Given the description of an element on the screen output the (x, y) to click on. 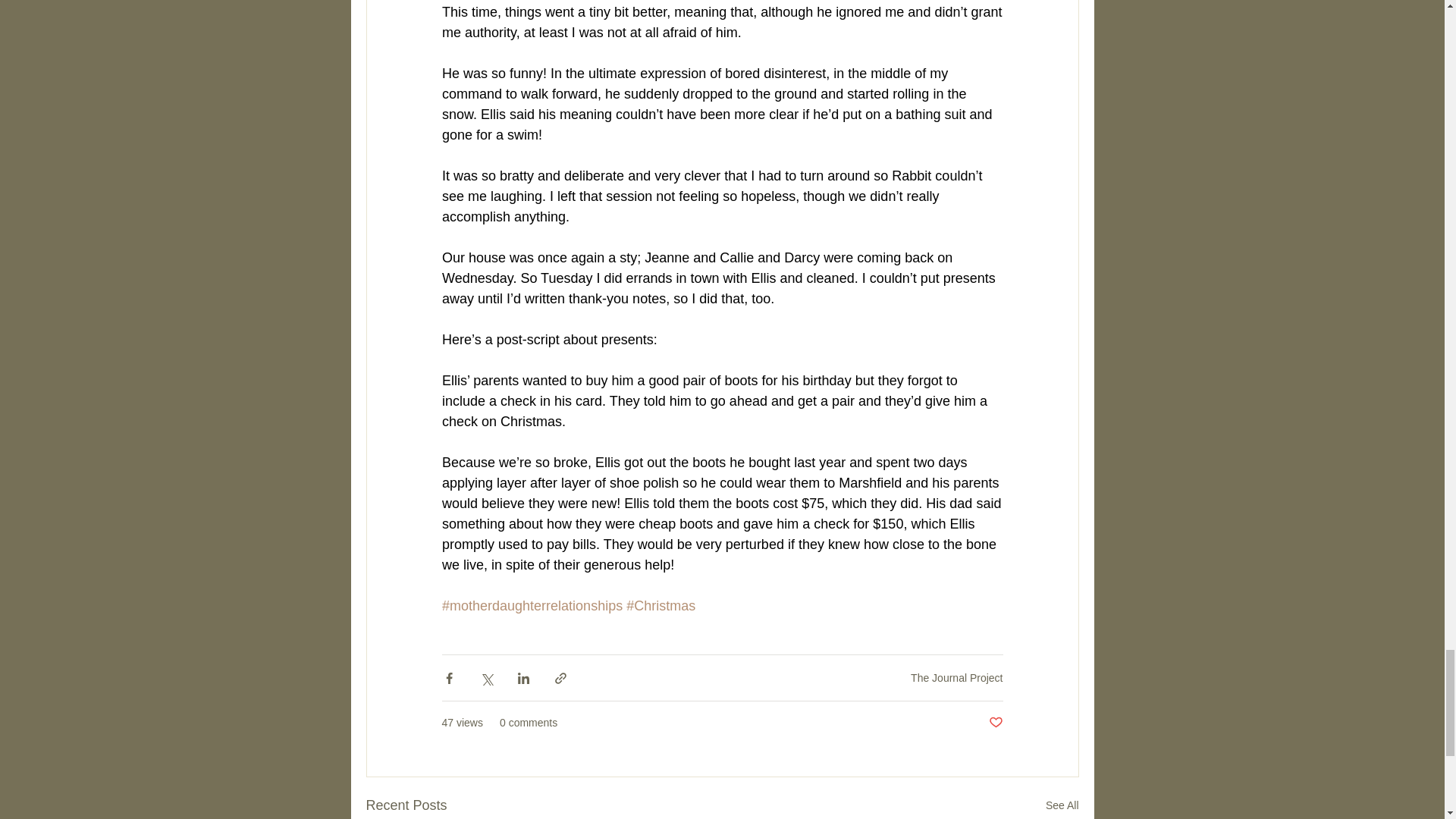
See All (1061, 805)
Post not marked as liked (995, 722)
The Journal Project (957, 677)
